Given the description of an element on the screen output the (x, y) to click on. 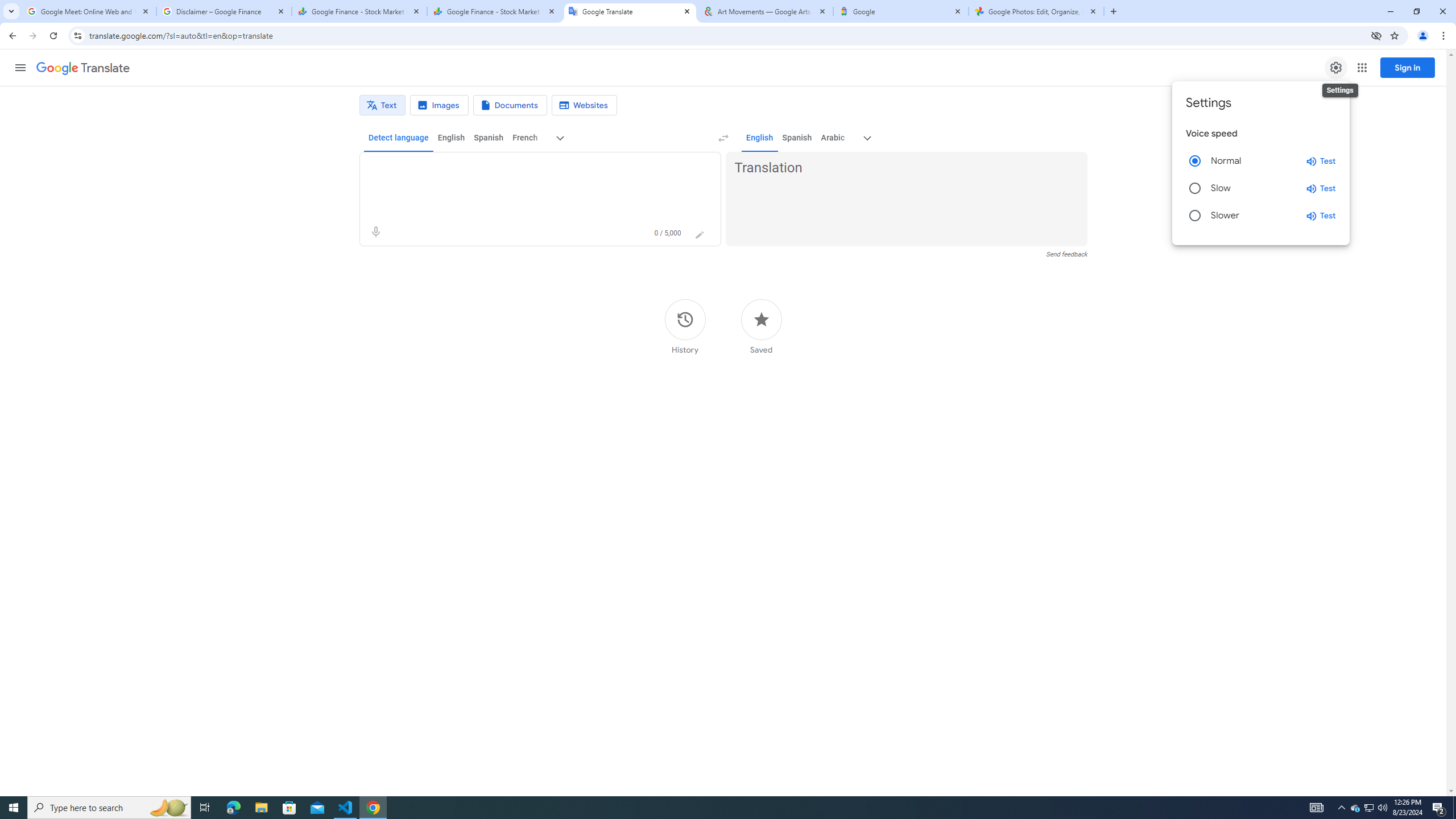
Saved (761, 326)
Google Translate (630, 11)
Swap languages (Ctrl+Shift+S) (723, 137)
Google Translate (82, 68)
Source text (529, 167)
Slower (1194, 215)
Test slower speed (1320, 215)
Test normal speed (1320, 160)
Test slow speed (1320, 187)
